Given the description of an element on the screen output the (x, y) to click on. 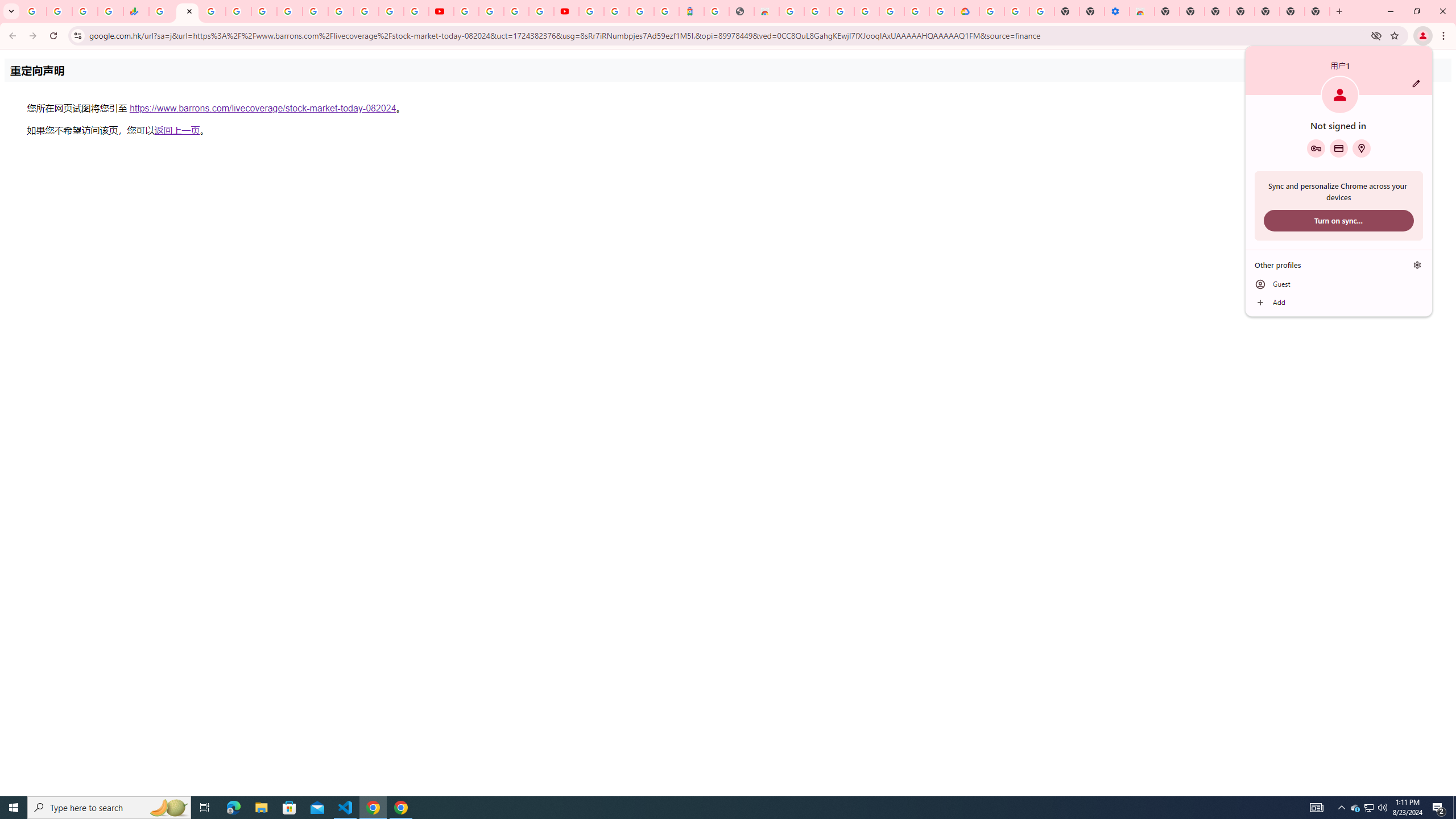
New Tab (1166, 11)
Task View (204, 807)
Running applications (717, 807)
User Promoted Notification Area (1368, 807)
Sign in - Google Accounts (590, 11)
Google Account Help (491, 11)
Search highlights icon opens search home window (167, 807)
Ad Settings (816, 11)
Google Account Help (1355, 807)
Manage profiles (1016, 11)
